Given the description of an element on the screen output the (x, y) to click on. 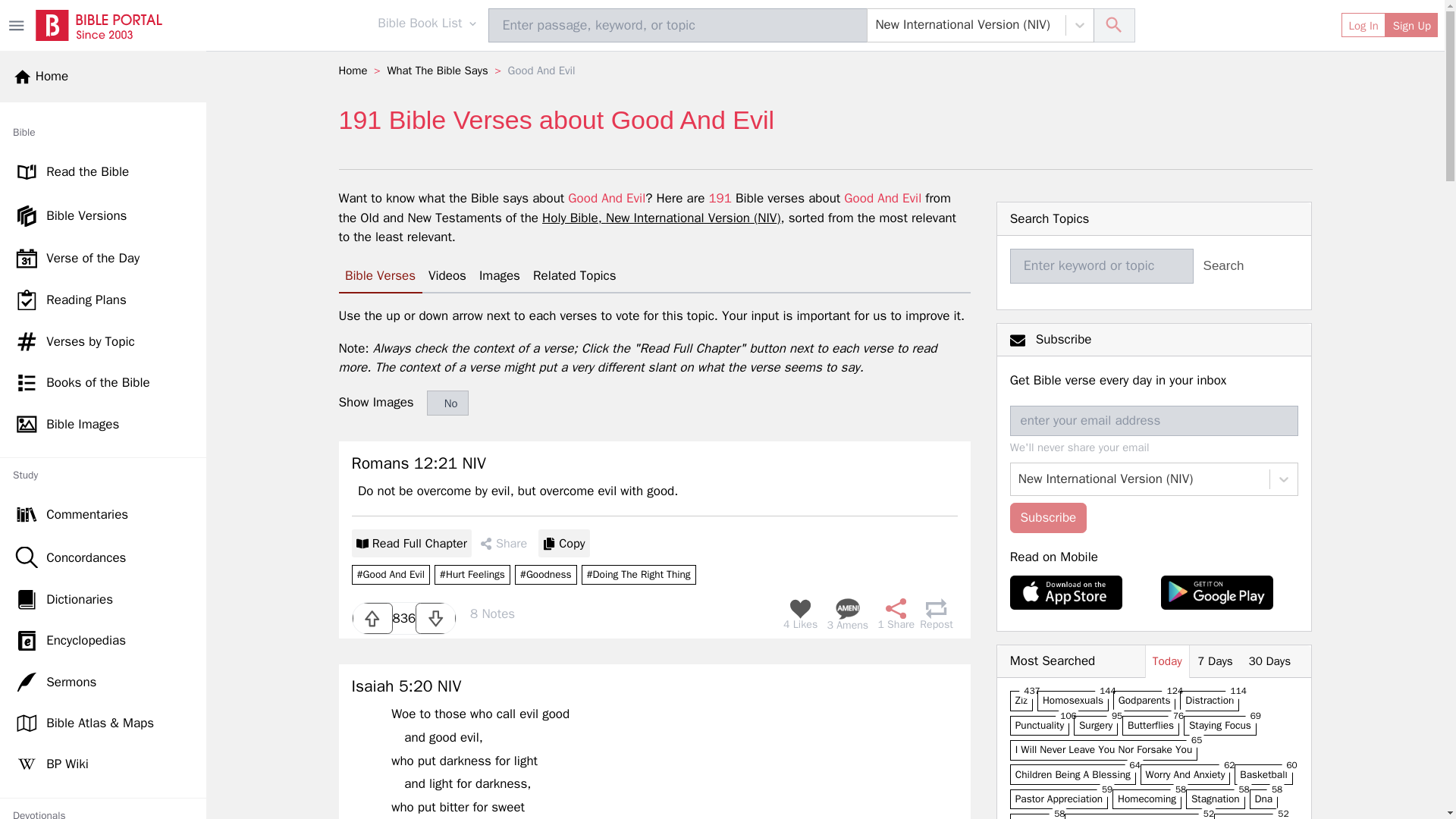
Commentaries (103, 514)
Read the Bible (103, 171)
Log In (1363, 24)
bibleVerseAbout (545, 574)
Search (1114, 25)
bibleVerseAbout (472, 574)
Verses by Topic (103, 341)
bibleVerseAbout (637, 574)
Share (893, 613)
Dictionaries (103, 599)
